Given the description of an element on the screen output the (x, y) to click on. 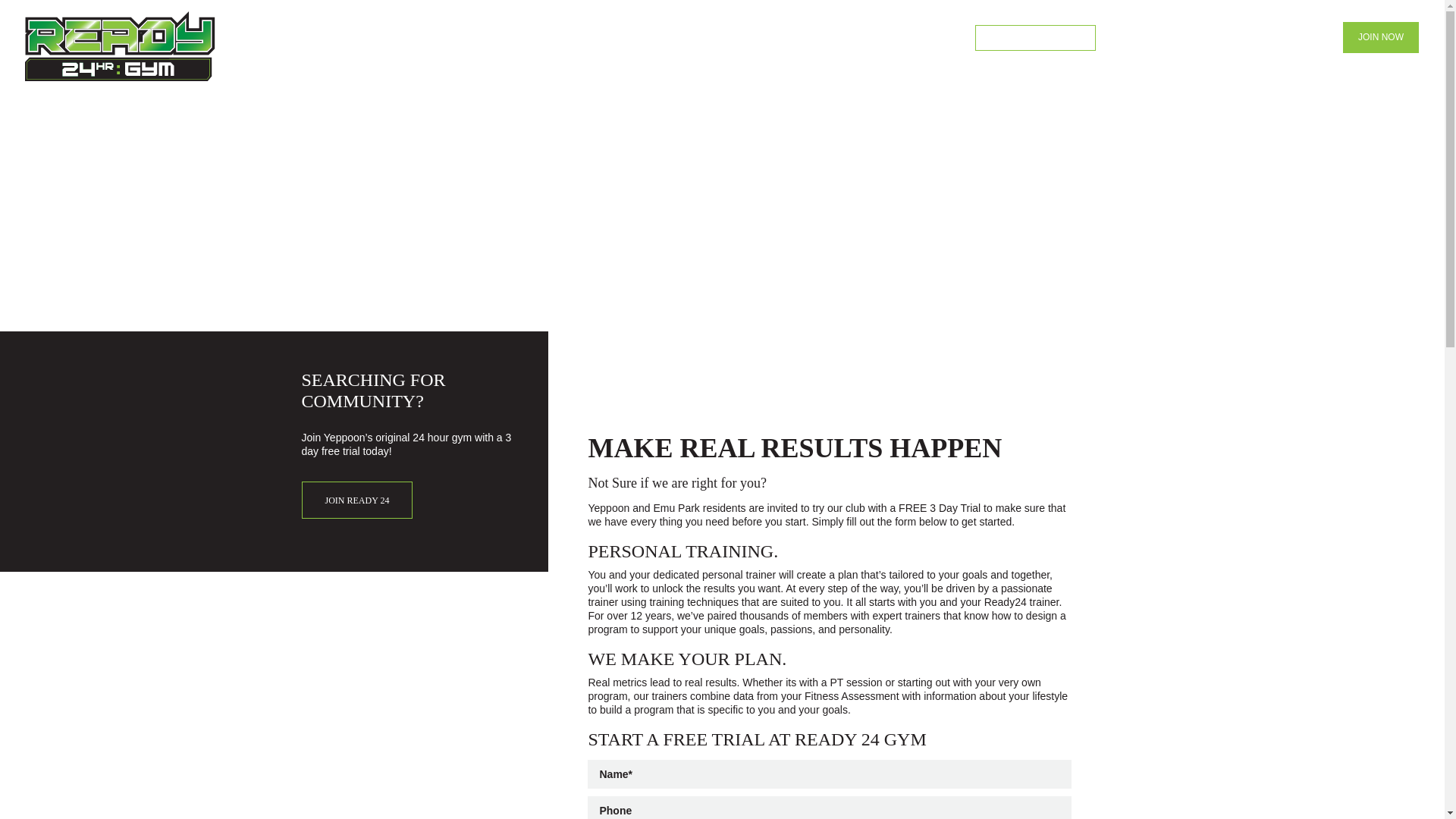
HOME (707, 37)
JOIN NOW (1380, 37)
CHALLENGES (1139, 38)
GROUP FITNESS (929, 37)
TRAINING AT READY24 (1034, 37)
OUR CLUB (766, 38)
CONTACT US (1294, 37)
JOIN READY 24 (357, 499)
MEMBERSHIP (843, 37)
TIMETABLES (1219, 37)
